Given the description of an element on the screen output the (x, y) to click on. 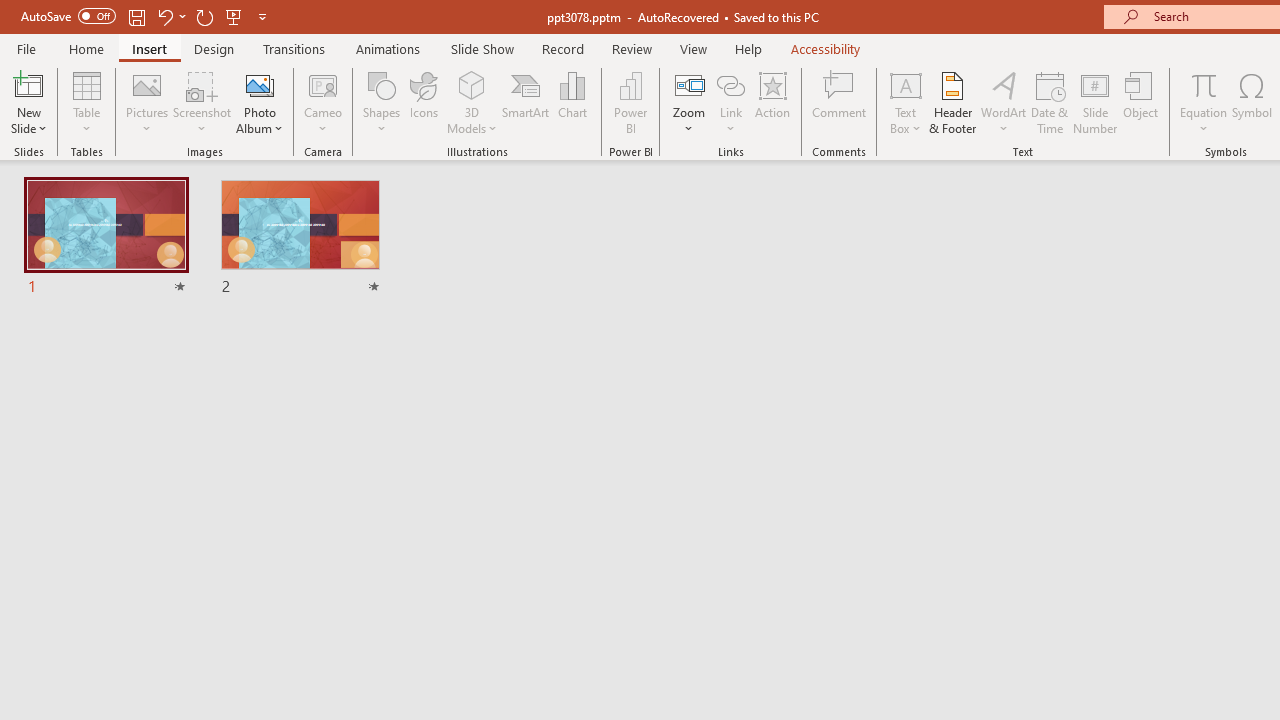
WordArt (1004, 102)
Pictures (147, 102)
Link (731, 84)
Draw Horizontal Text Box (905, 84)
